Given the description of an element on the screen output the (x, y) to click on. 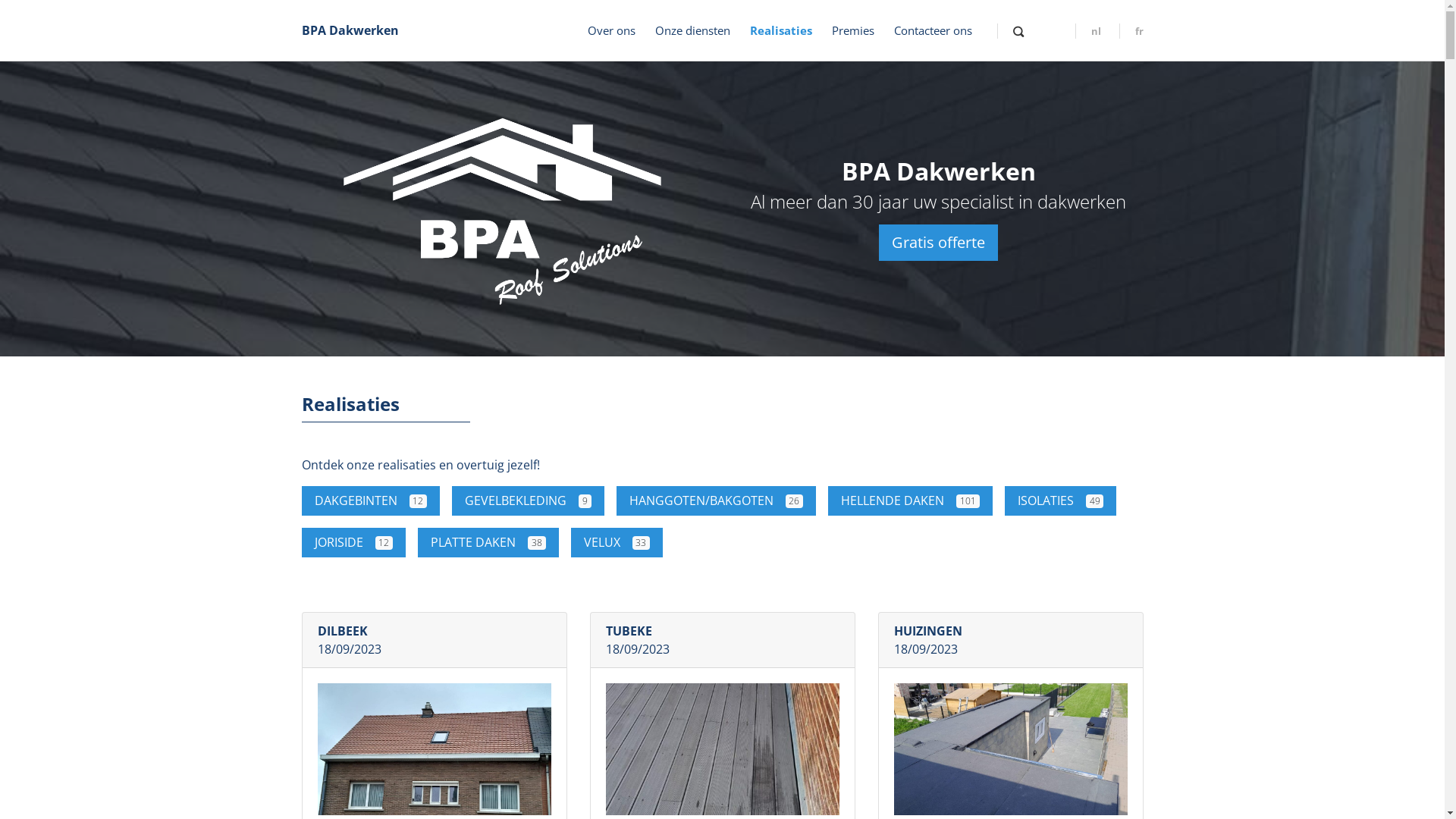
nl Element type: text (1088, 30)
VELUX    33 Element type: text (617, 542)
GEVELBEKLEDING    9 Element type: text (527, 500)
fr Element type: text (1131, 30)
Contacteer ons Element type: text (932, 30)
Premies Element type: text (852, 30)
PLATTE DAKEN    38 Element type: text (487, 542)
DAKGEBINTEN    12 Element type: text (370, 500)
Over ons Element type: text (610, 30)
JORISIDE    12 Element type: text (353, 542)
ISOLATIES    49 Element type: text (1060, 500)
HELLENDE DAKEN    101 Element type: text (910, 500)
Onze diensten Element type: text (692, 30)
Gratis offerte Element type: text (937, 242)
Realisaties Element type: text (780, 30)
BPA Dakwerken Element type: text (349, 30)
HANGGOTEN/BAKGOTEN    26 Element type: text (716, 500)
